Given the description of an element on the screen output the (x, y) to click on. 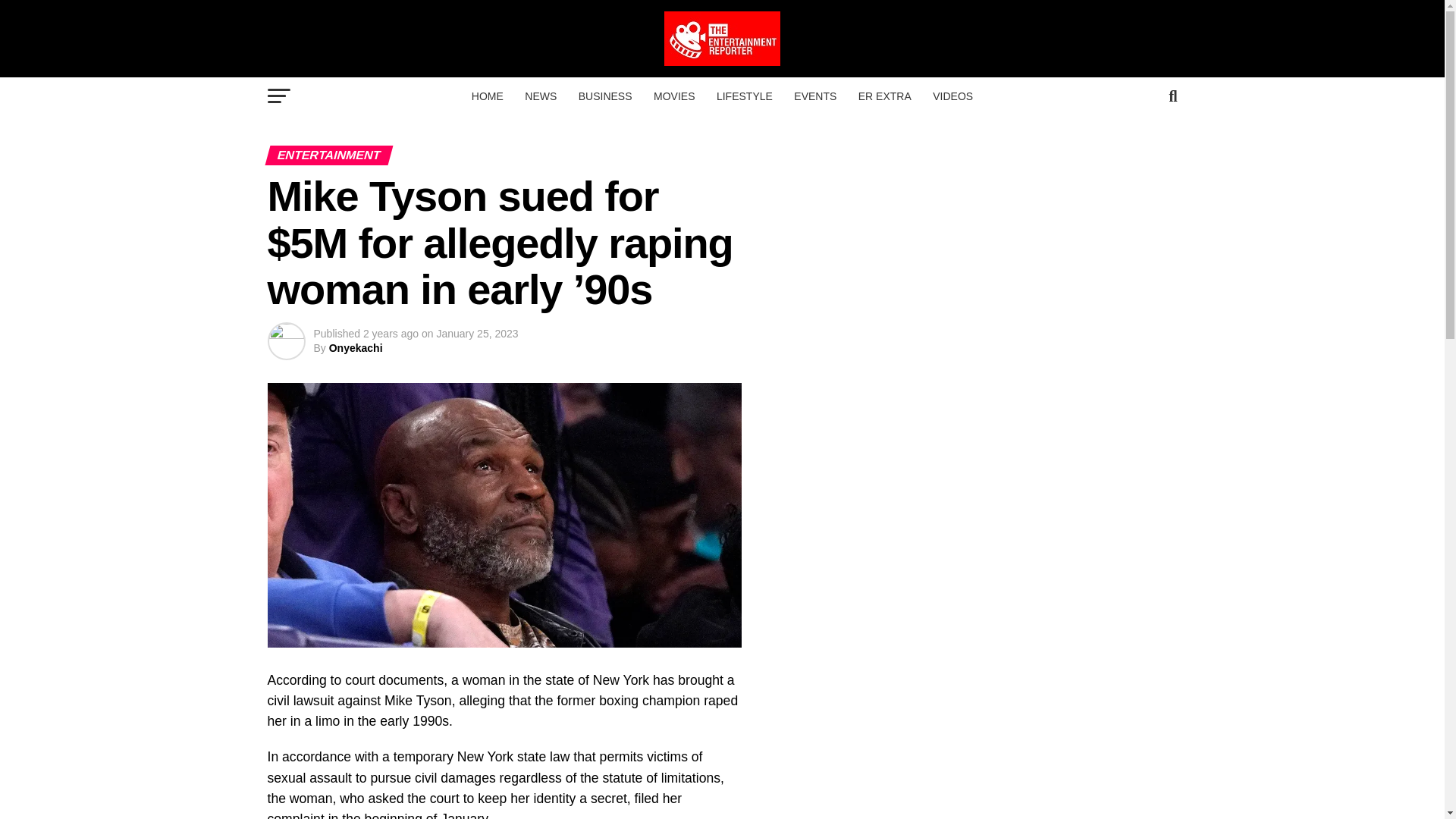
MOVIES (674, 95)
NEWS (540, 95)
EVENTS (814, 95)
ER EXTRA (884, 95)
HOME (487, 95)
BUSINESS (605, 95)
LIFESTYLE (744, 95)
